Given the description of an element on the screen output the (x, y) to click on. 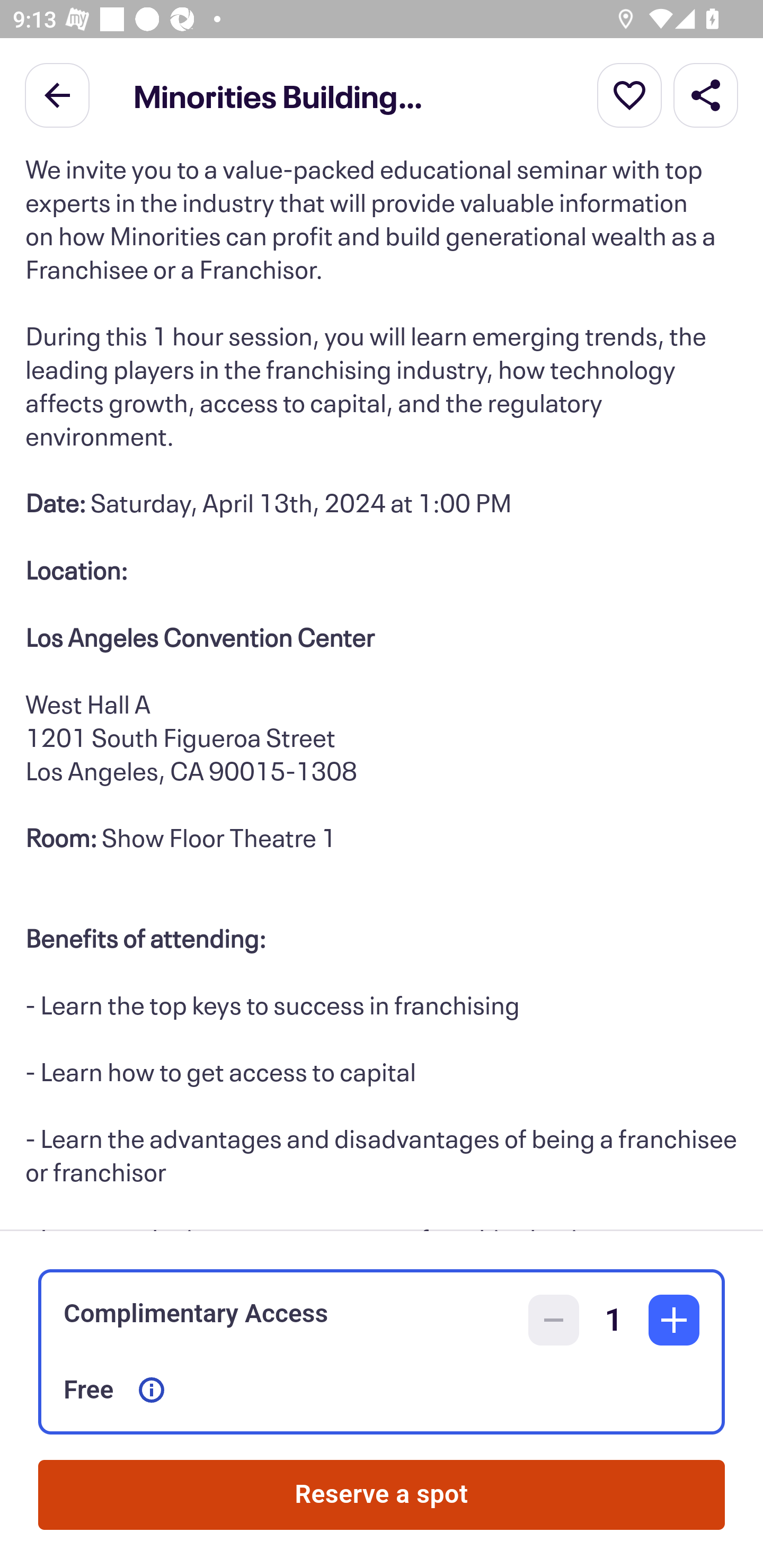
Back (57, 94)
More (629, 94)
Share (705, 94)
Decrease (553, 1320)
Increase (673, 1320)
Show more information (151, 1389)
Reserve a spot (381, 1494)
